Given the description of an element on the screen output the (x, y) to click on. 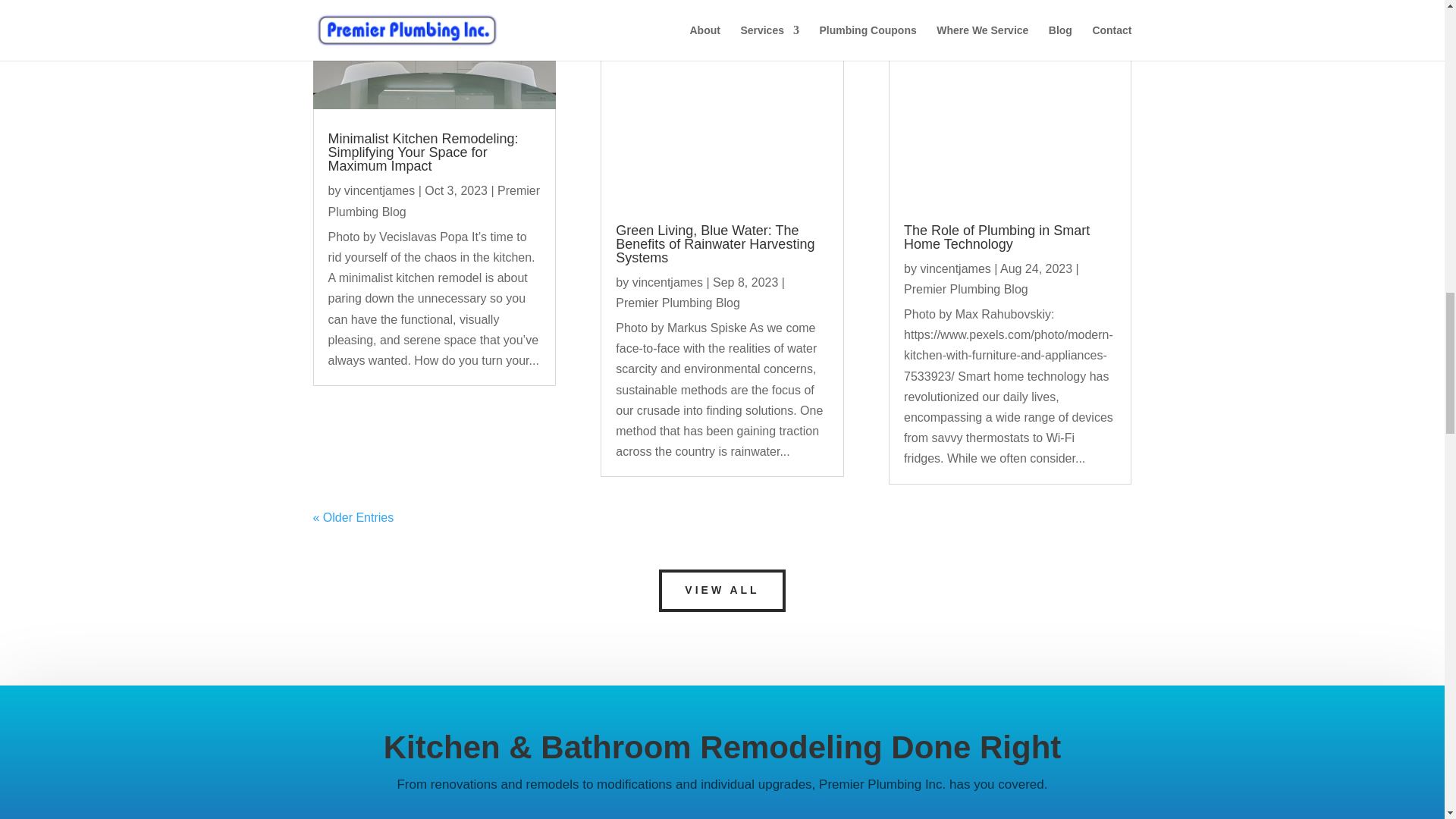
Posts by vincentjames (955, 268)
vincentjames (378, 190)
Premier Plumbing Blog (433, 200)
Posts by vincentjames (667, 282)
Posts by vincentjames (378, 190)
